Given the description of an element on the screen output the (x, y) to click on. 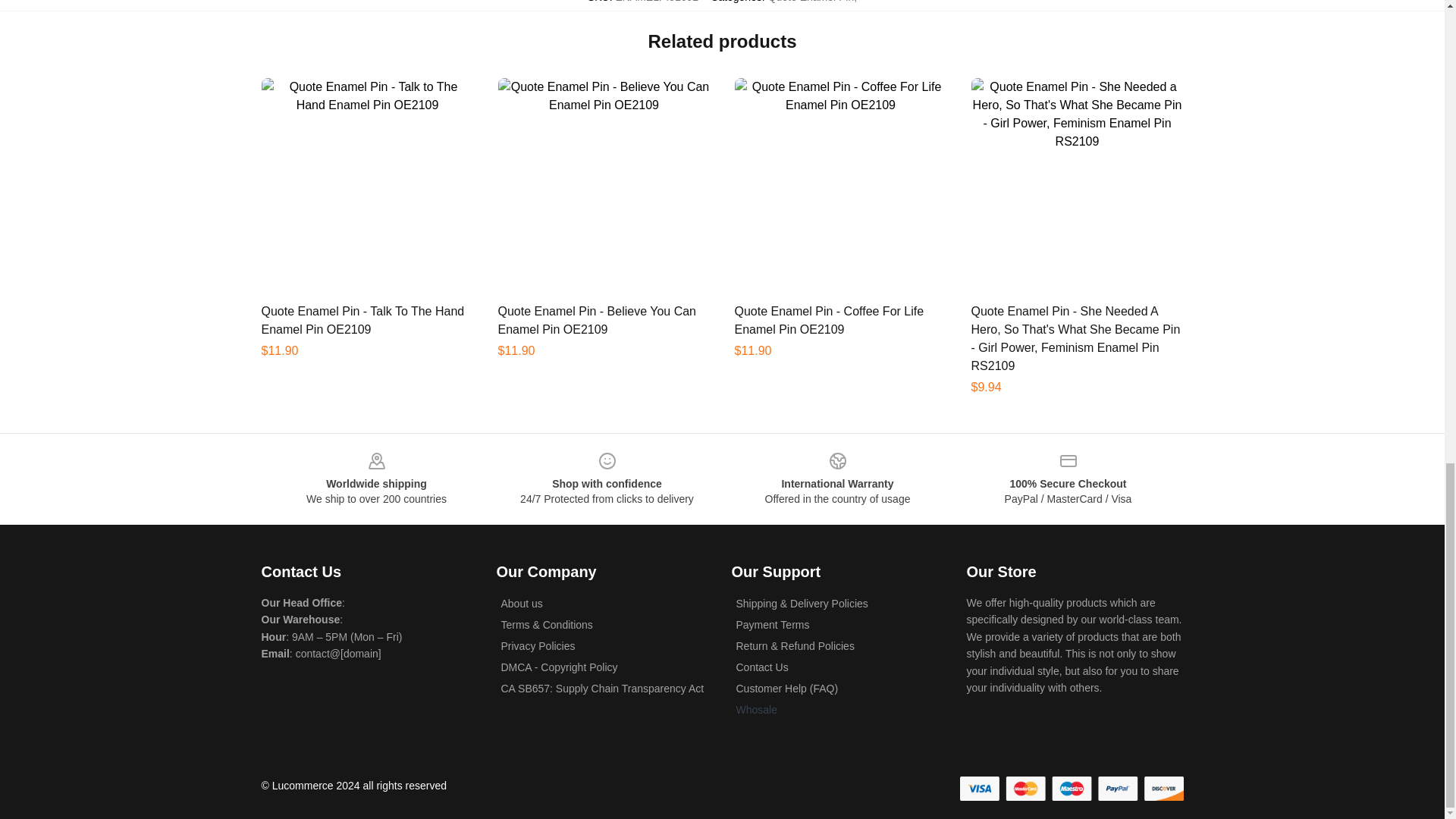
Quote Enamel Pin - Believe You Can Enamel Pin OE2109 (596, 319)
Quote Enamel Pin - Talk To The Hand Enamel Pin OE2109 (362, 319)
Quote Enamel Pin (811, 1)
